Given the description of an element on the screen output the (x, y) to click on. 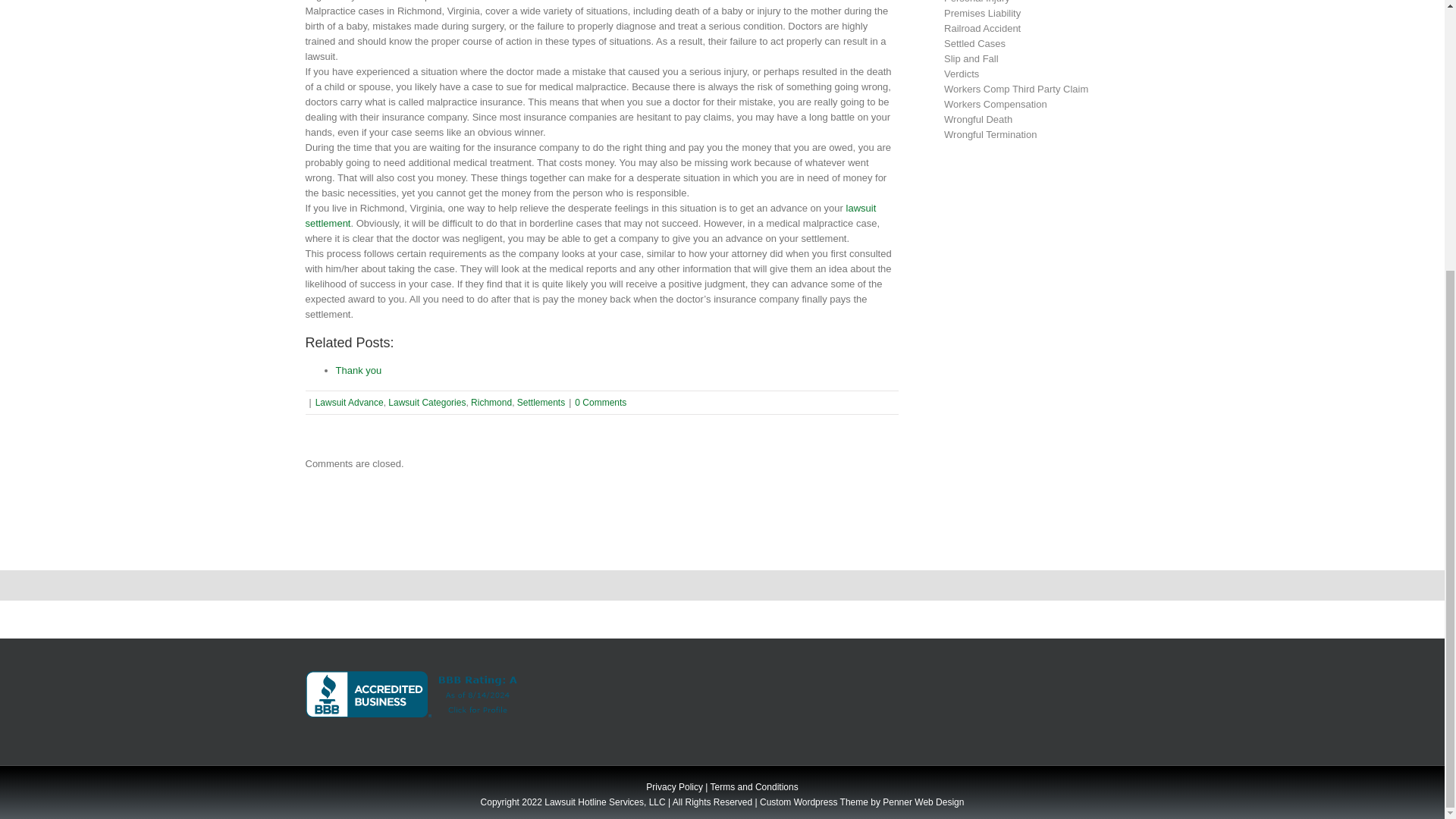
0 Comments (600, 402)
Thank you (357, 369)
Richmond (491, 402)
Settlements (540, 402)
lawsuit settlement (590, 215)
Lawsuit Advance (349, 402)
Lawsuit Categories (426, 402)
